Given the description of an element on the screen output the (x, y) to click on. 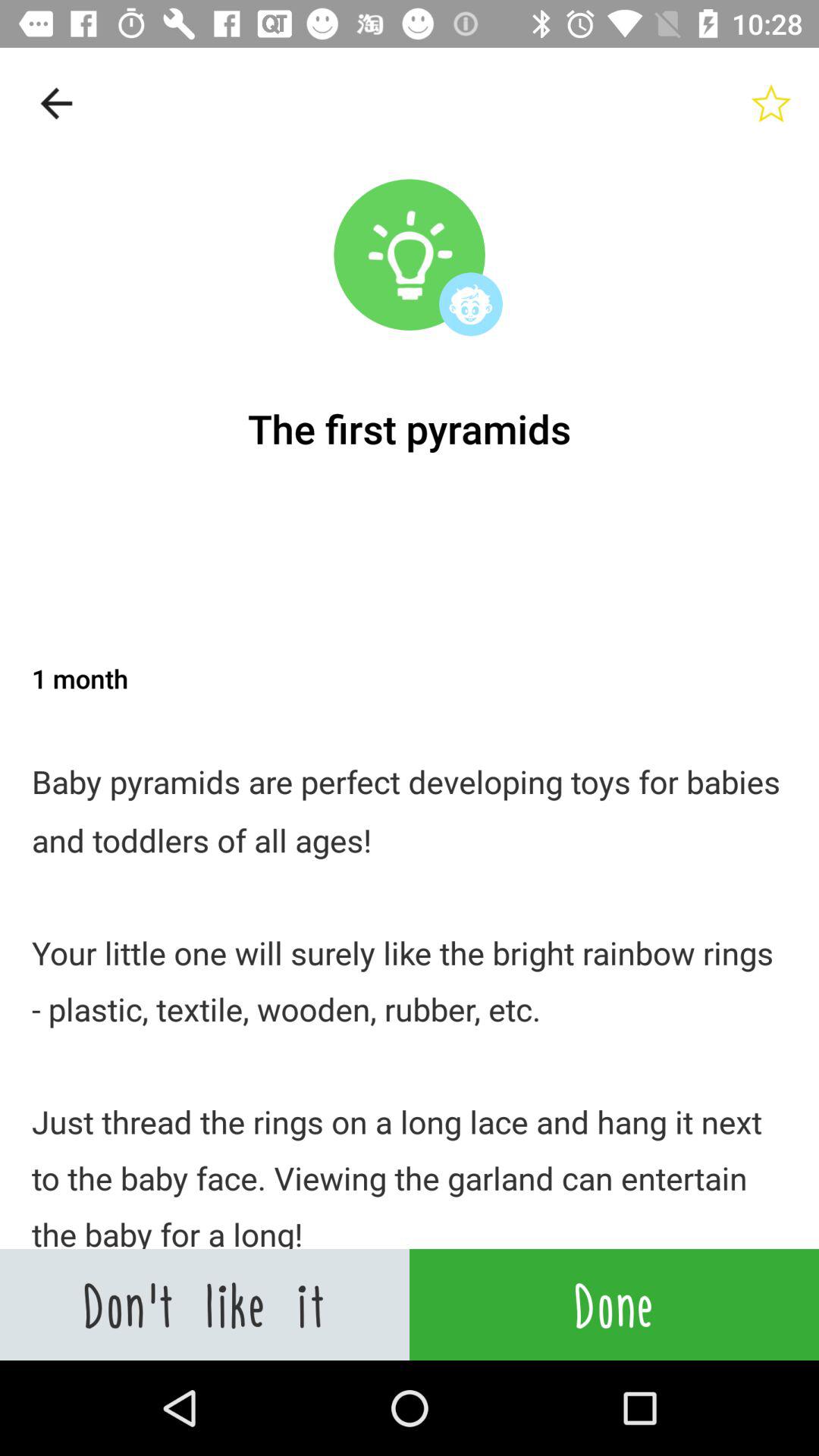
turn on the done icon (614, 1304)
